Given the description of an element on the screen output the (x, y) to click on. 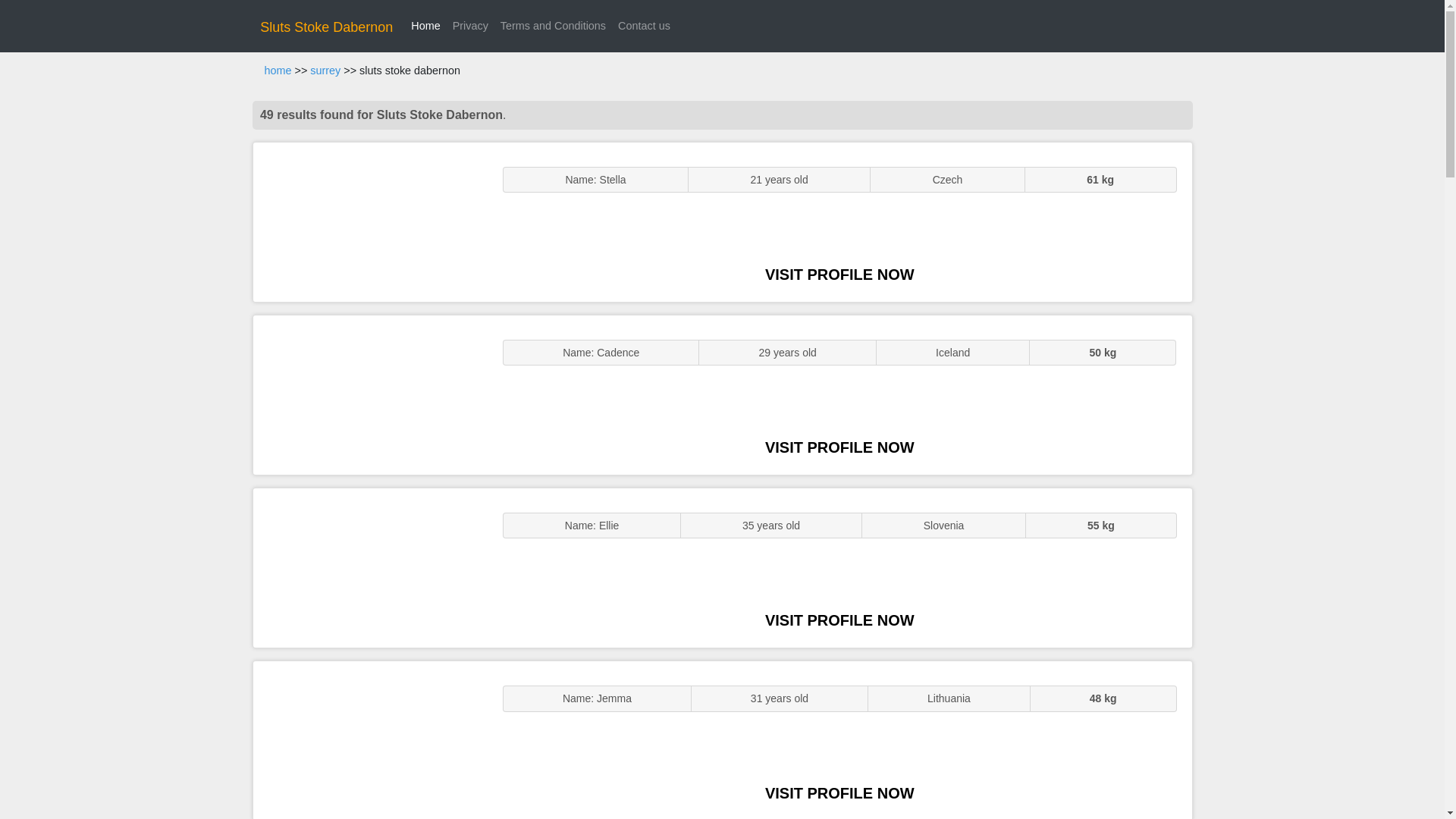
VISIT PROFILE NOW (839, 274)
 ENGLISH STUNNER (370, 222)
Sexy (370, 567)
Sluts Stoke Dabernon (326, 27)
Privacy (470, 25)
Terms and Conditions (553, 25)
Sluts (370, 739)
surrey (325, 70)
Contact us (644, 25)
home (277, 70)
